Given the description of an element on the screen output the (x, y) to click on. 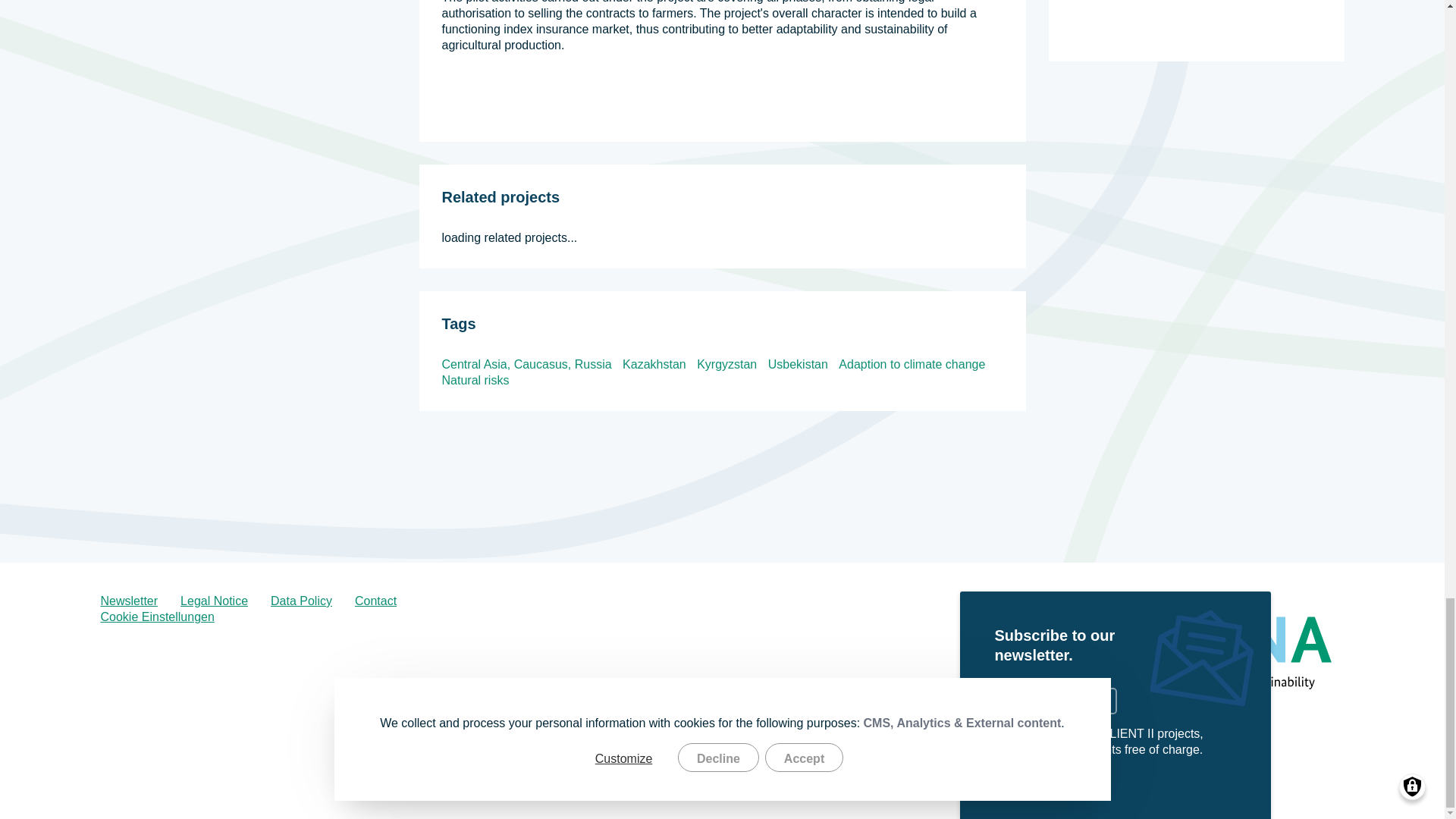
Newsletter Registrierung (128, 600)
Research for Sustainability - FONA (1250, 653)
Kazakhstan (654, 364)
Federal Ministry of Education and Research (1044, 653)
Central Asia, Caucasus, Russia (526, 364)
Usbekistan (798, 364)
Kyrgyzstan (727, 364)
